Given the description of an element on the screen output the (x, y) to click on. 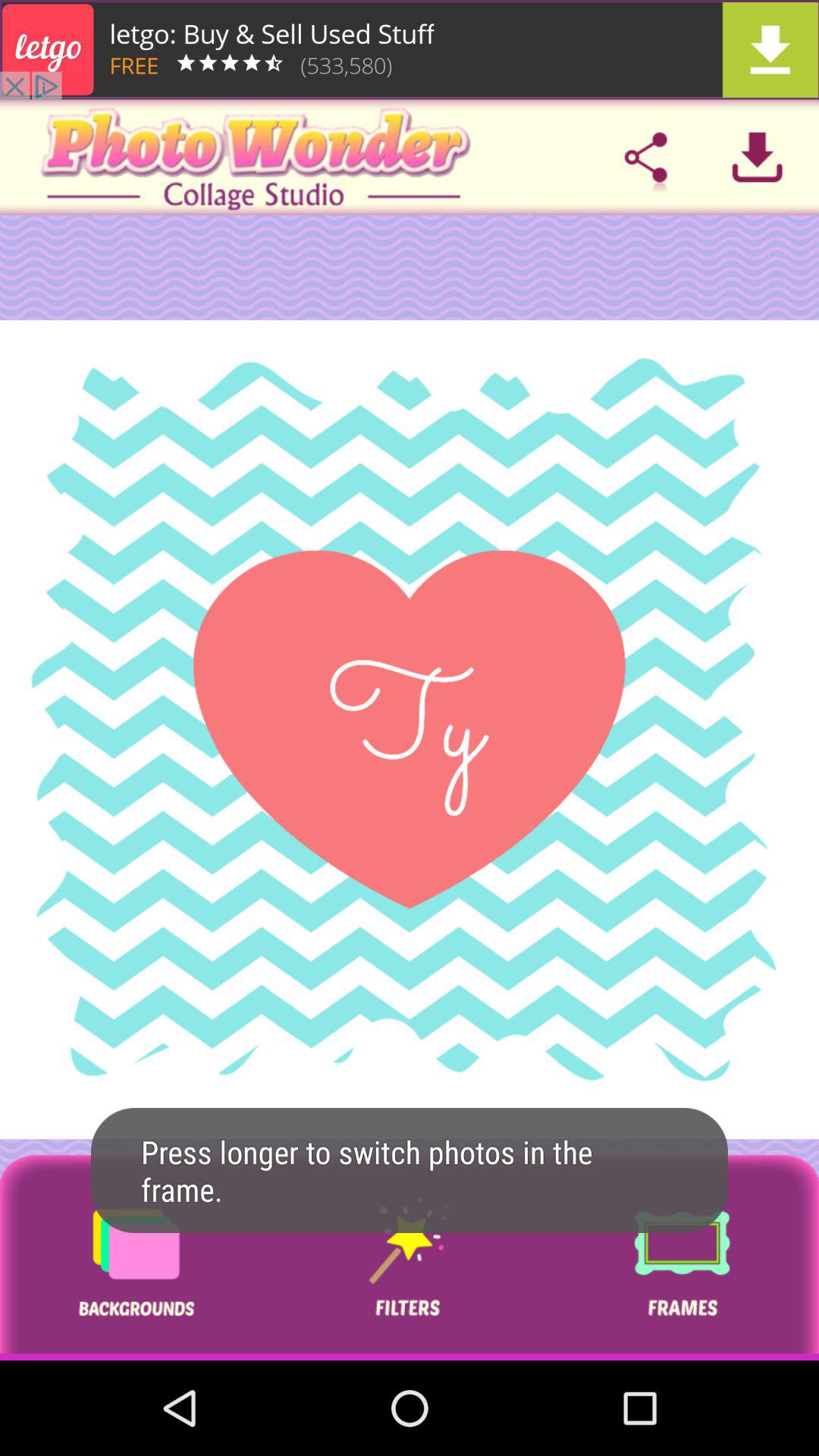
download (757, 157)
